Given the description of an element on the screen output the (x, y) to click on. 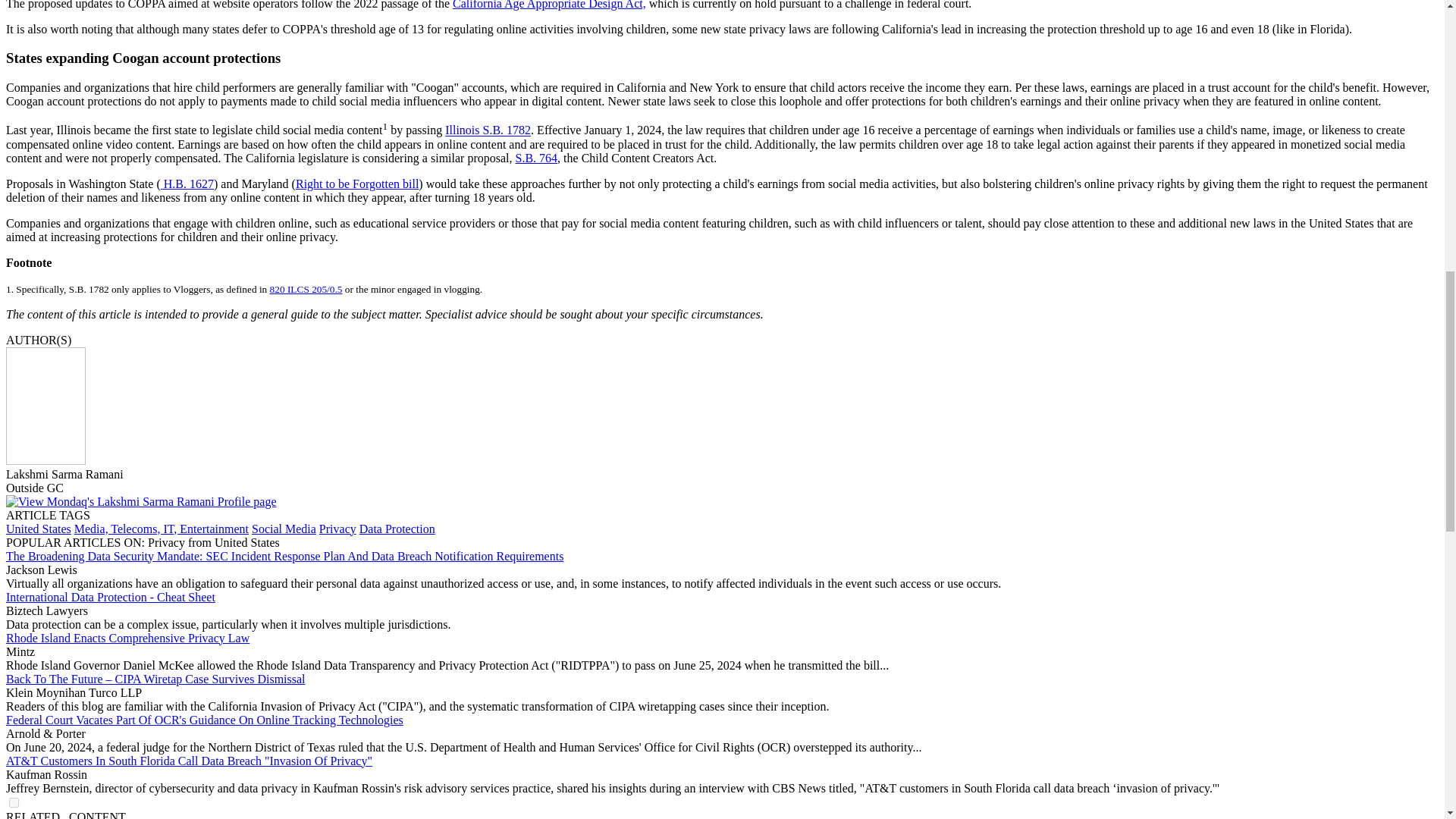
Media, Telecoms, IT, Entertainment (161, 528)
United States (38, 528)
Right to be Forgotten bill (357, 183)
Page tools slideout (65, 814)
S.B. 764 (536, 157)
on (13, 802)
Illinois S.B. 1782 (488, 130)
H.B. 1627 (187, 183)
California Age Appropriate Design Act, (549, 4)
More from Lakshmi Sarma  Ramani (140, 501)
